Given the description of an element on the screen output the (x, y) to click on. 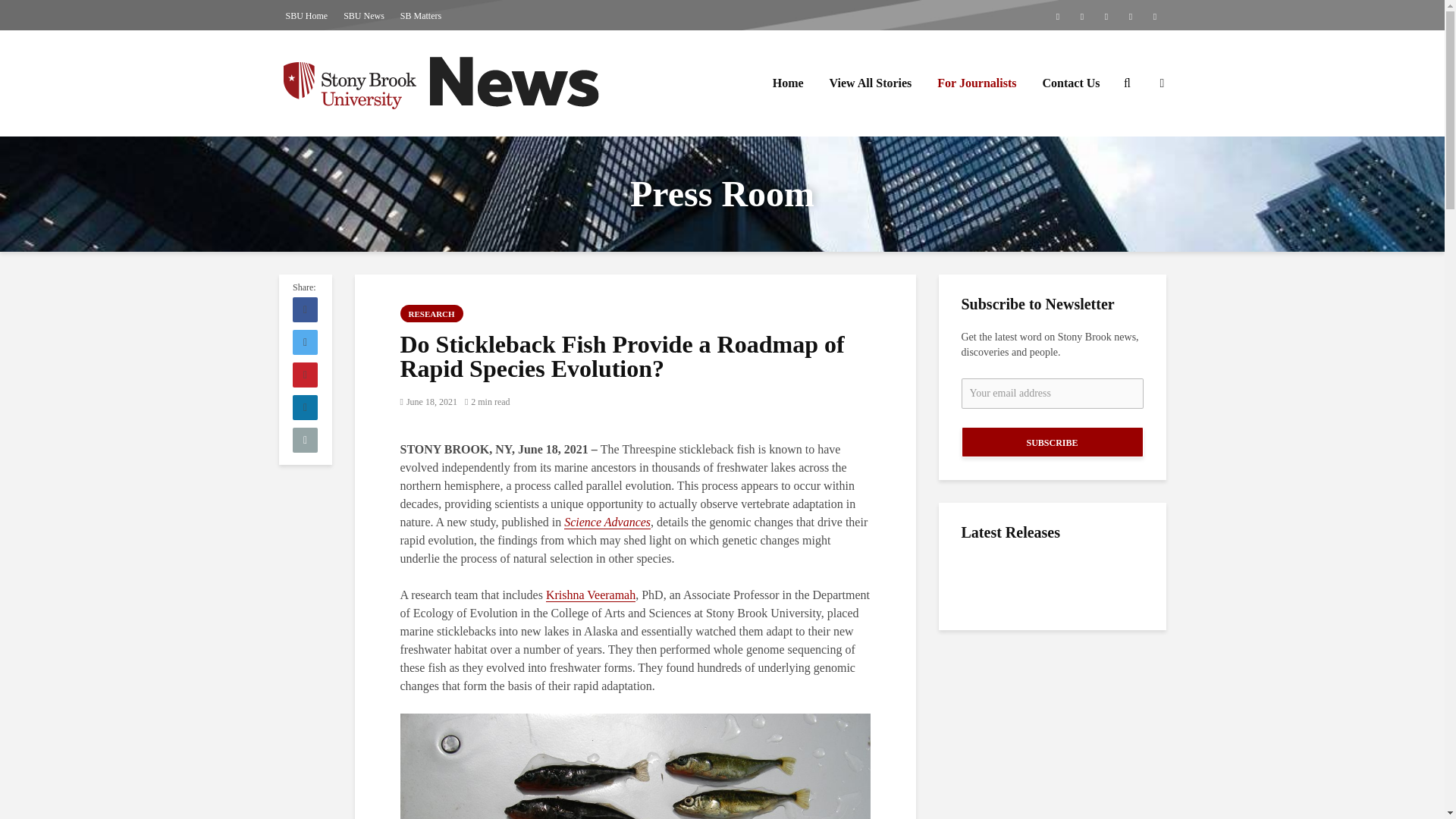
SBU Home (306, 15)
For Journalists (976, 82)
SBU News (363, 15)
Home (788, 82)
Subscribe (1051, 441)
View All Stories (870, 82)
Contact Us (1071, 82)
Sticklebackfishgroup (635, 766)
SB Matters (420, 15)
